Given the description of an element on the screen output the (x, y) to click on. 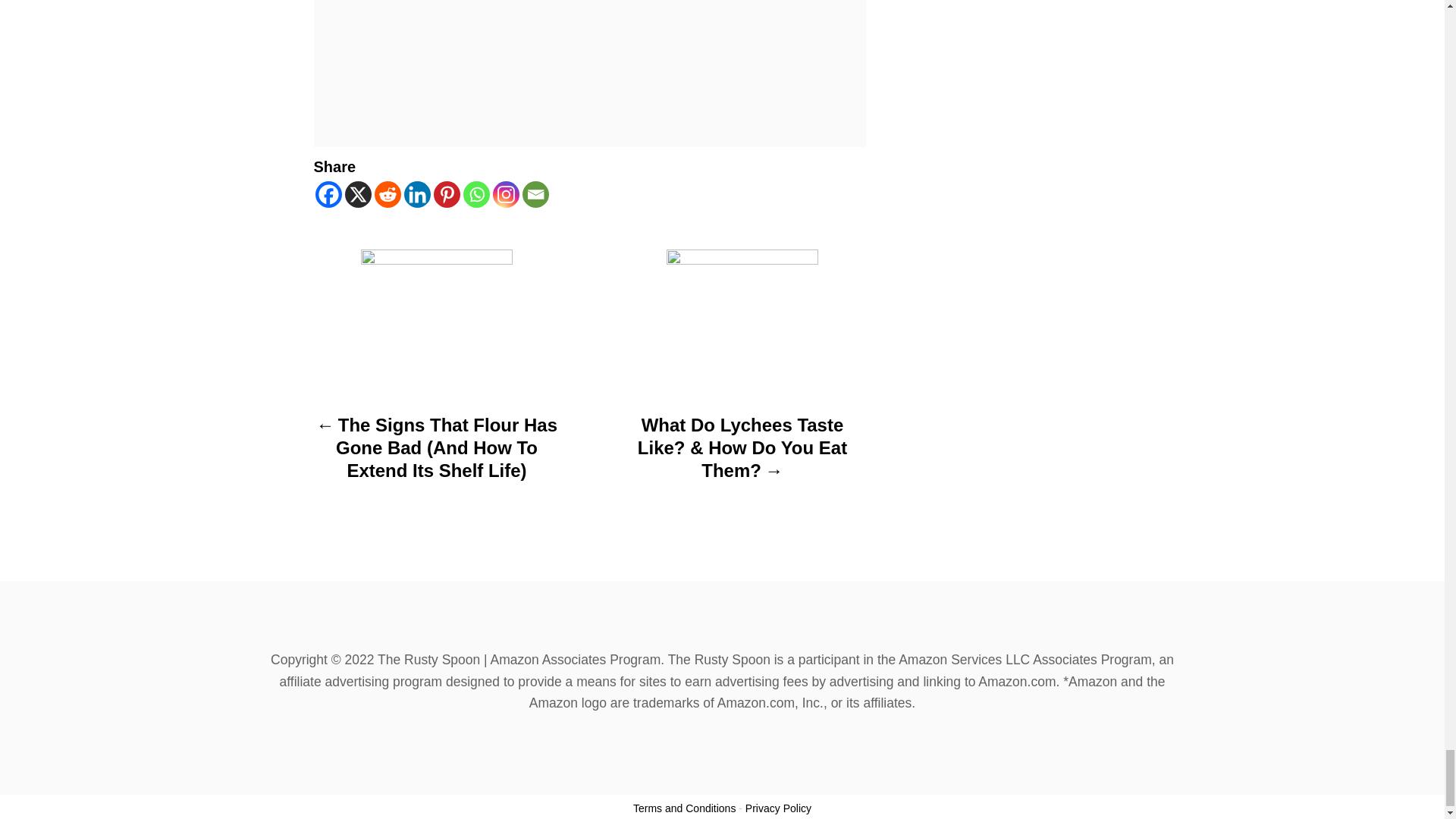
X (357, 194)
Pinterest (446, 194)
Instagram (506, 194)
Reddit (387, 194)
Email (534, 194)
Facebook (328, 194)
Linkedin (416, 194)
Whatsapp (476, 194)
